Given the description of an element on the screen output the (x, y) to click on. 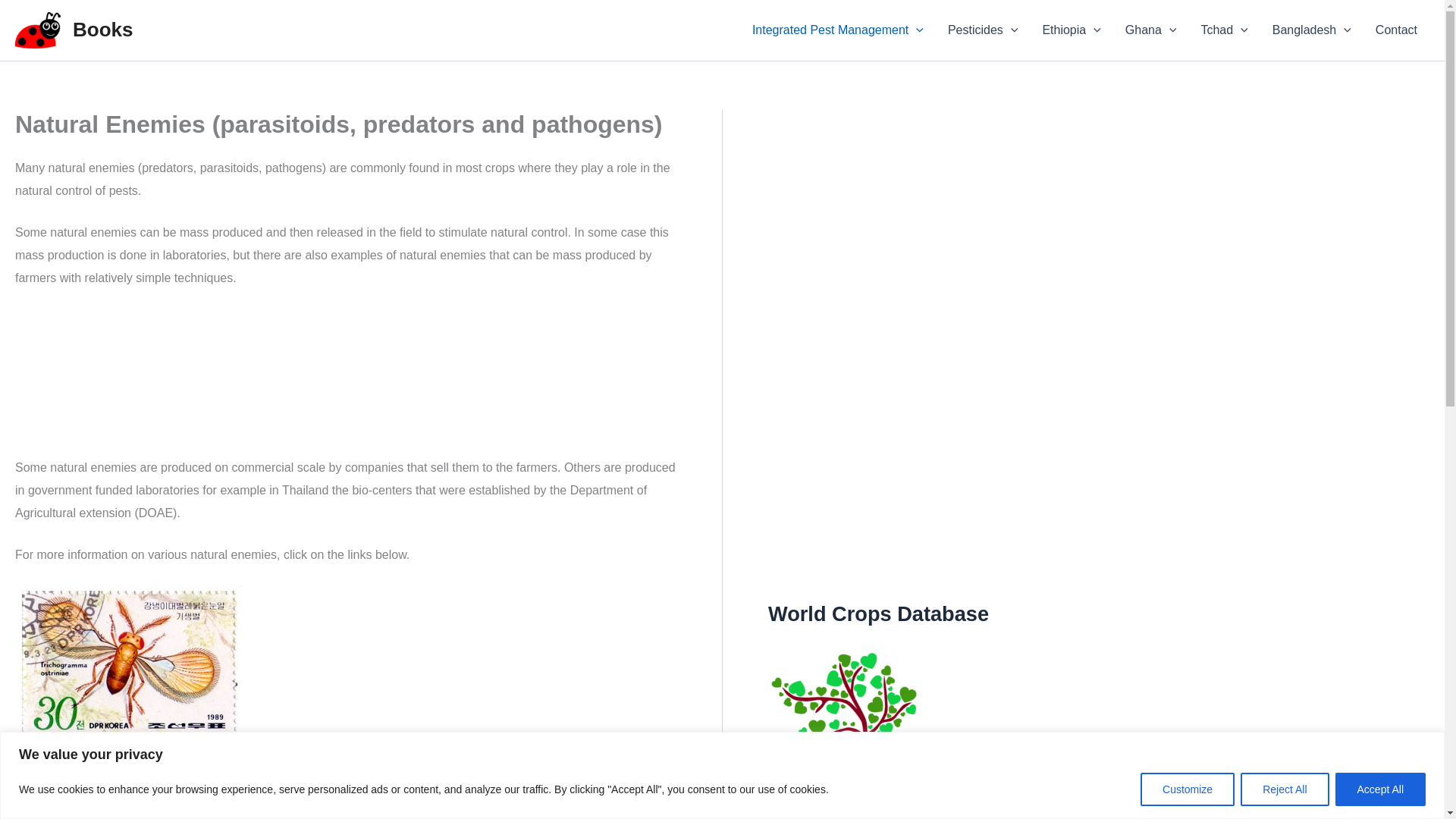
Pesticides (983, 30)
Ghana (1151, 30)
Books (102, 29)
Accept All (1380, 788)
Ethiopia (1070, 30)
Integrated Pest Management (837, 30)
Reject All (1283, 788)
Advertisement (344, 382)
Customize (1187, 788)
